Given the description of an element on the screen output the (x, y) to click on. 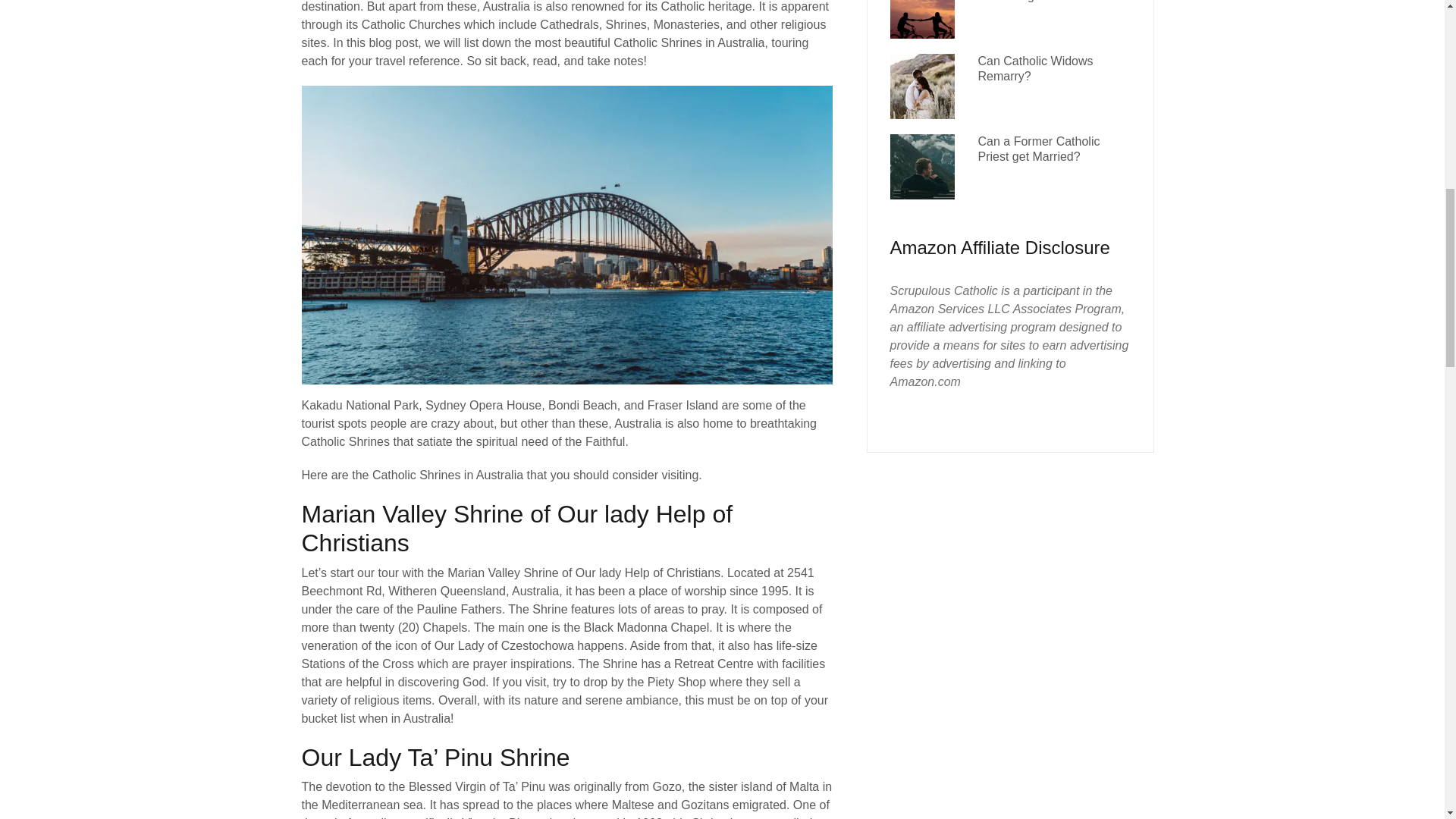
Does the Catholic Church Allow Viagra? (1045, 0)
Can a Former Catholic Priest get Married? (1037, 148)
Can Catholic Widows Remarry? (1034, 67)
